Given the description of an element on the screen output the (x, y) to click on. 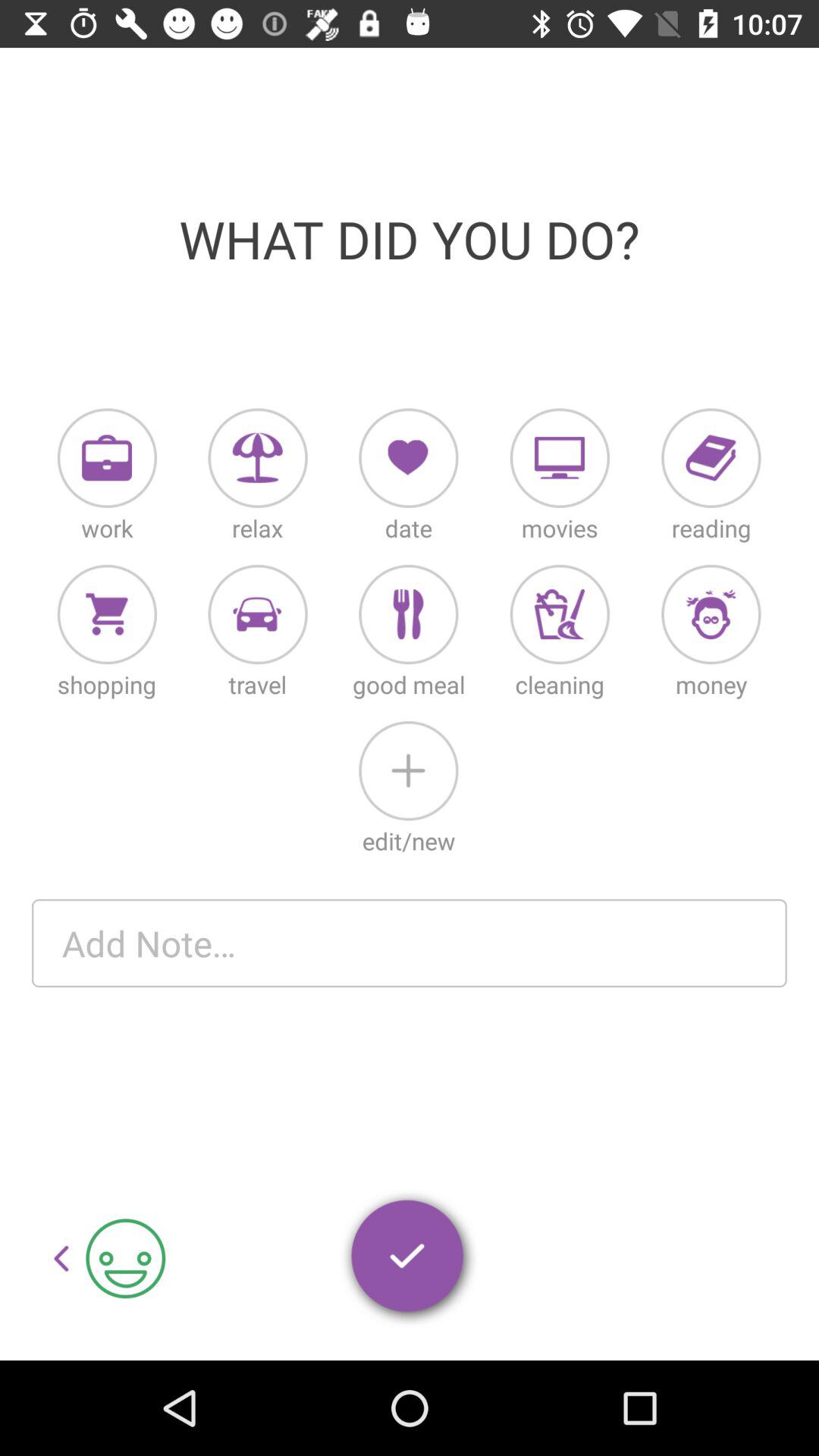
add date entry (408, 457)
